Given the description of an element on the screen output the (x, y) to click on. 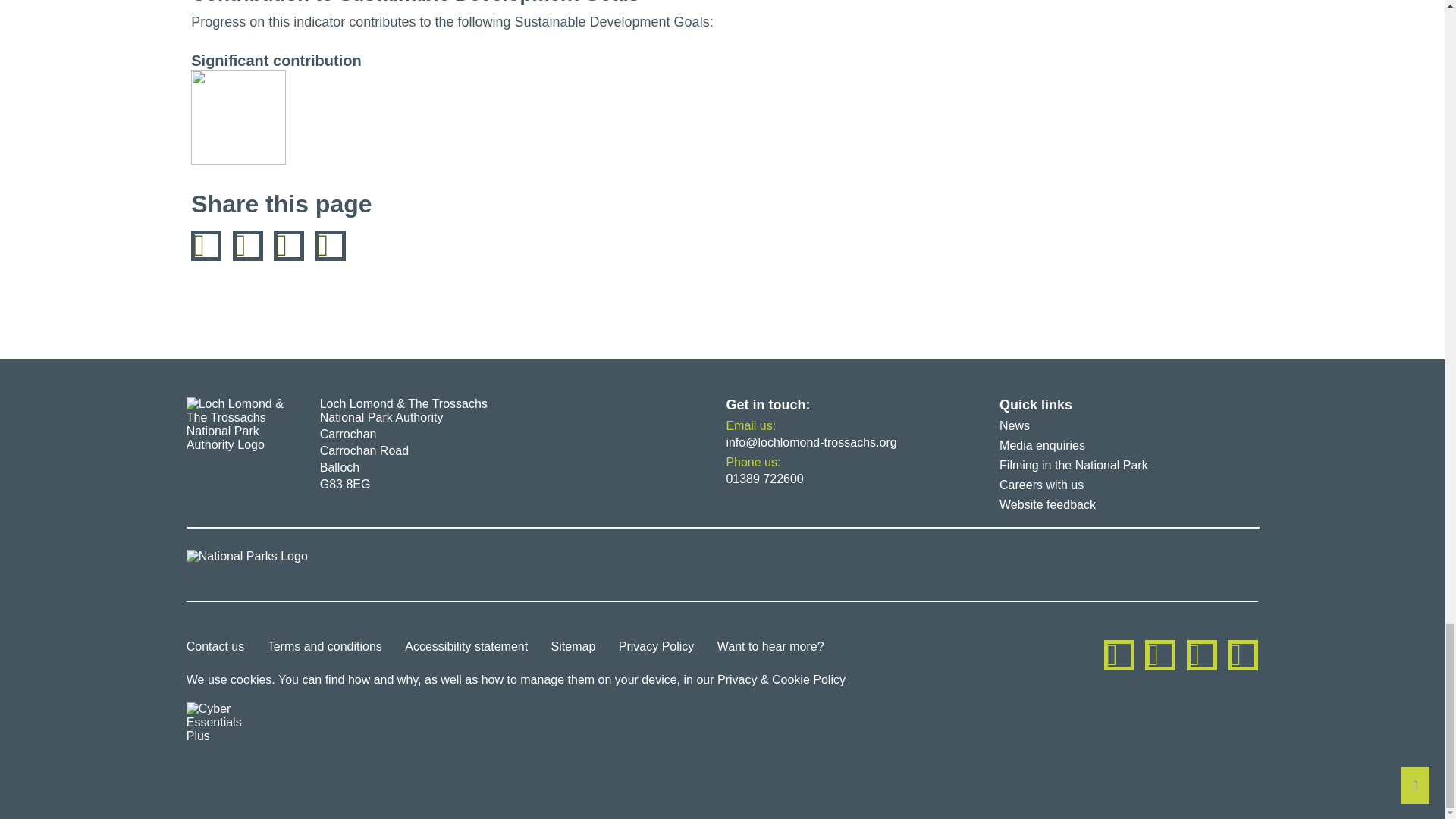
Share on twitter (247, 245)
Share on pinterest (288, 245)
Share on facebook (205, 245)
Share this page by email (330, 245)
